Given the description of an element on the screen output the (x, y) to click on. 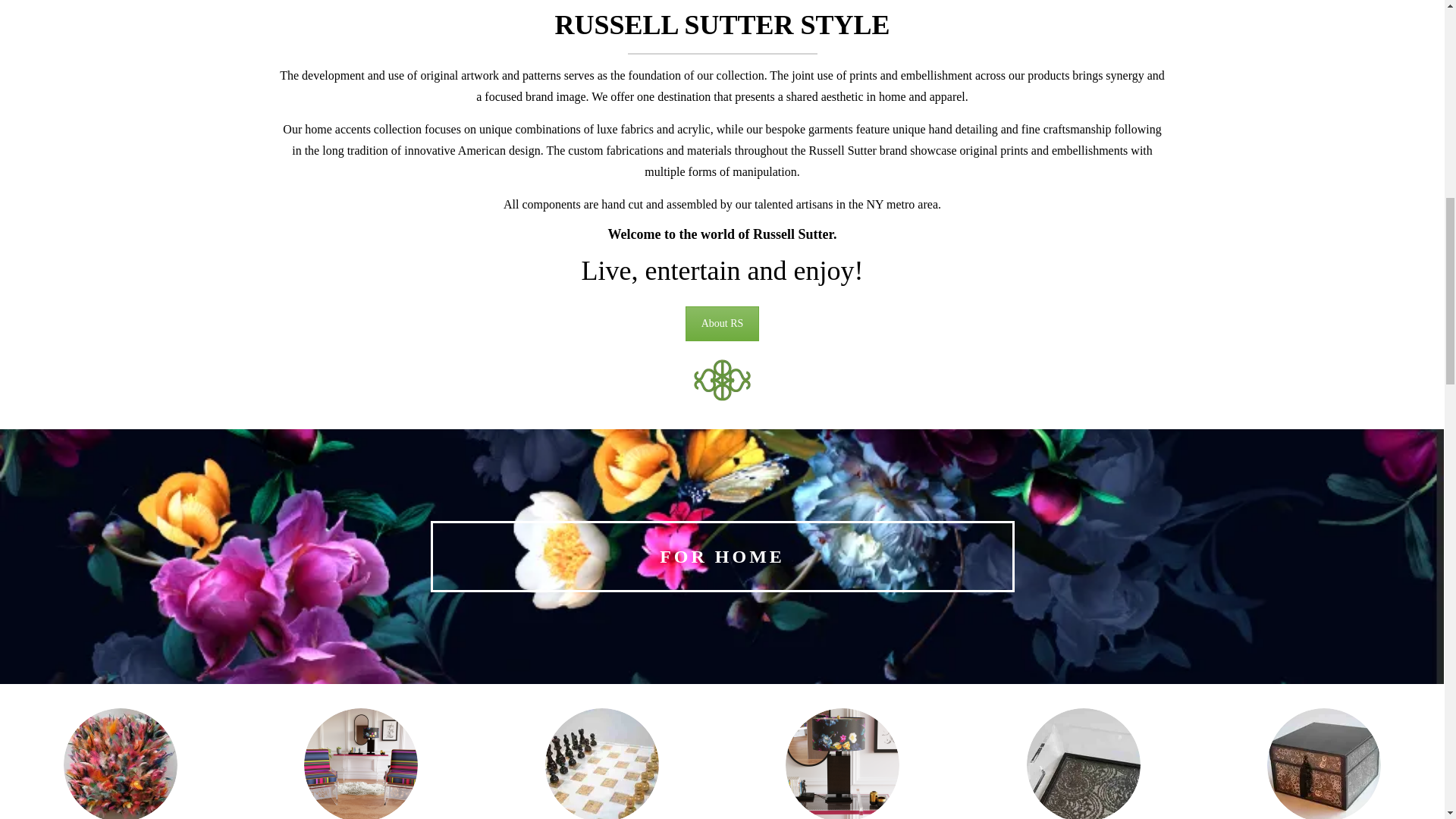
About RS (722, 323)
logo (722, 379)
For Home (721, 556)
